Given the description of an element on the screen output the (x, y) to click on. 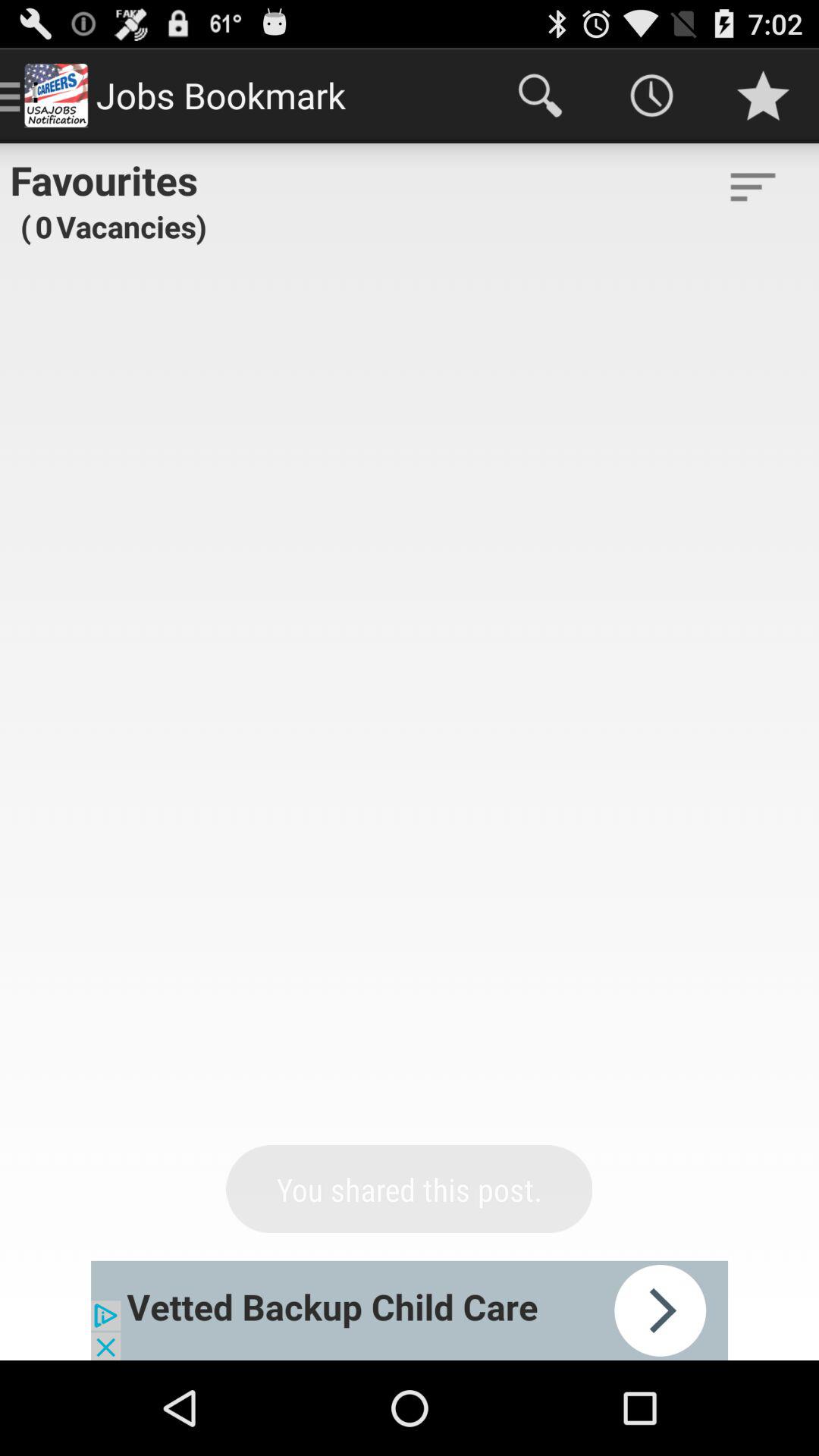
advertisement (409, 1310)
